Given the description of an element on the screen output the (x, y) to click on. 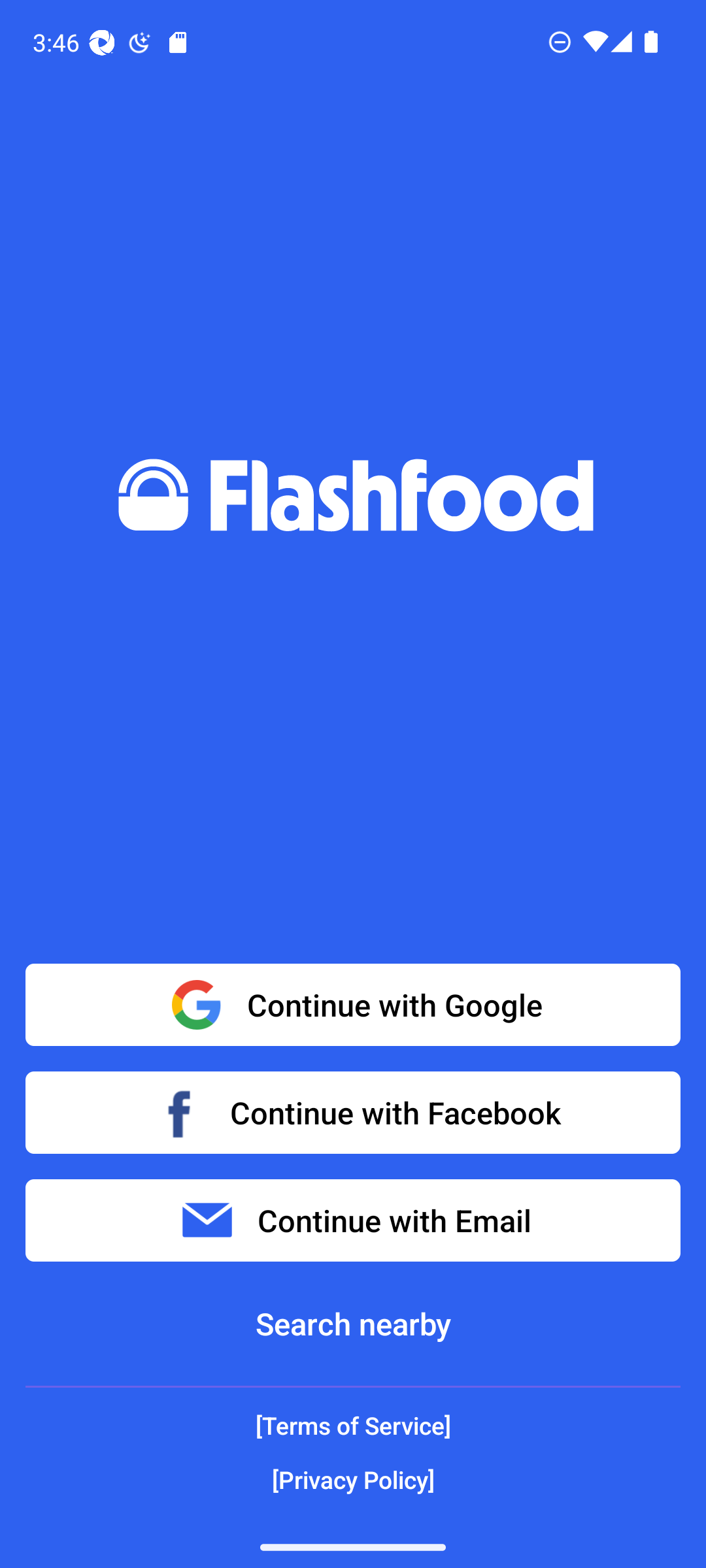
Continue with Google (352, 1004)
Continue with Facebook (352, 1112)
Continue with Email (352, 1220)
Search nearby (352, 1323)
[Terms of Service] (352, 1425)
[Privacy Policy] (352, 1478)
